Given the description of an element on the screen output the (x, y) to click on. 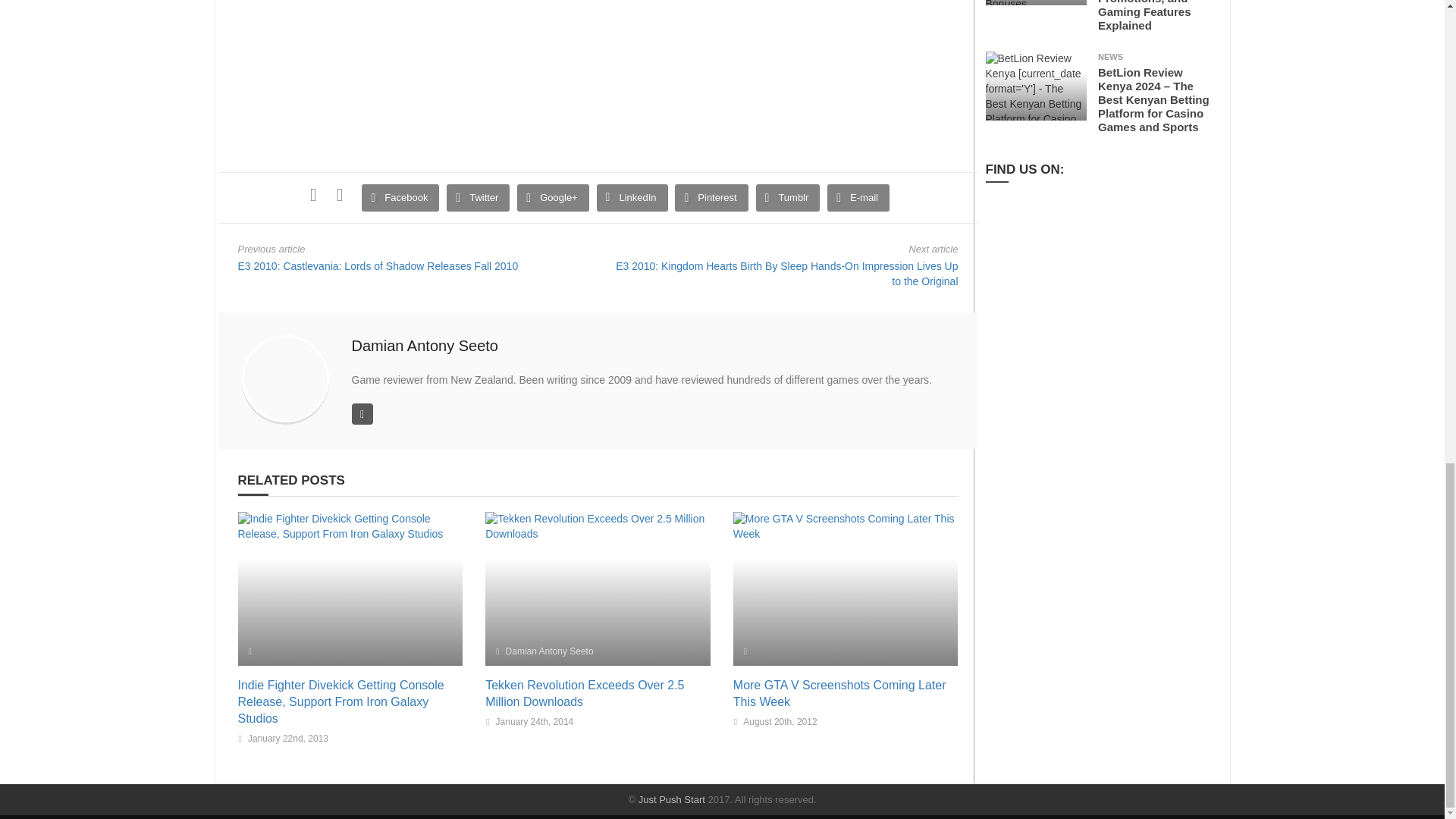
Posts by Damian Antony Seeto (424, 345)
E3 2010: Castlevania: Lords of Shadow Releases Fall 2010   (378, 265)
